Given the description of an element on the screen output the (x, y) to click on. 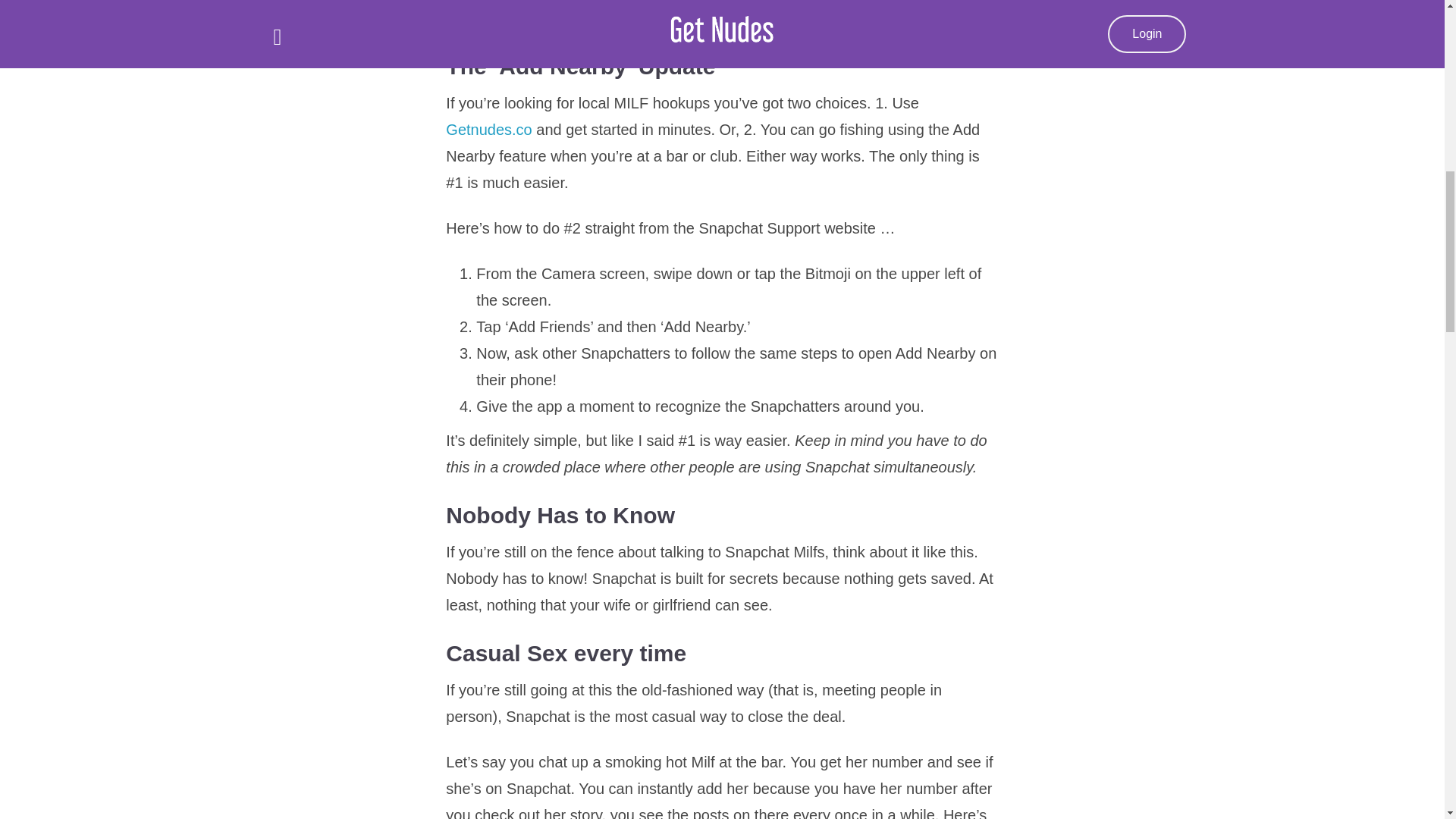
Getnudes.co (488, 129)
